Given the description of an element on the screen output the (x, y) to click on. 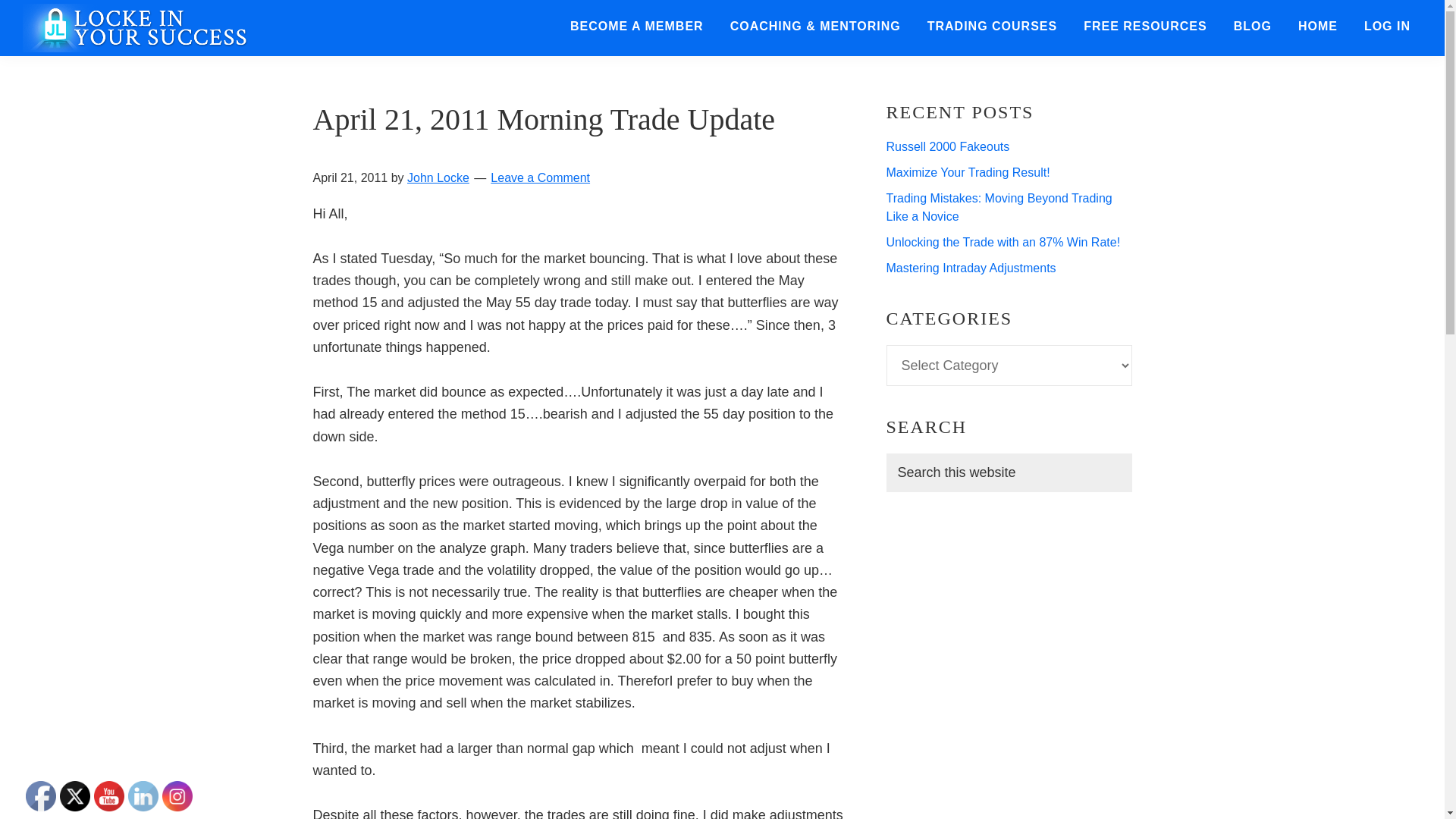
TRADING COURSES (991, 26)
BECOME A MEMBER (636, 26)
Facebook (41, 796)
Twitter (74, 796)
LinkedIn (143, 796)
YouTube (108, 796)
